Given the description of an element on the screen output the (x, y) to click on. 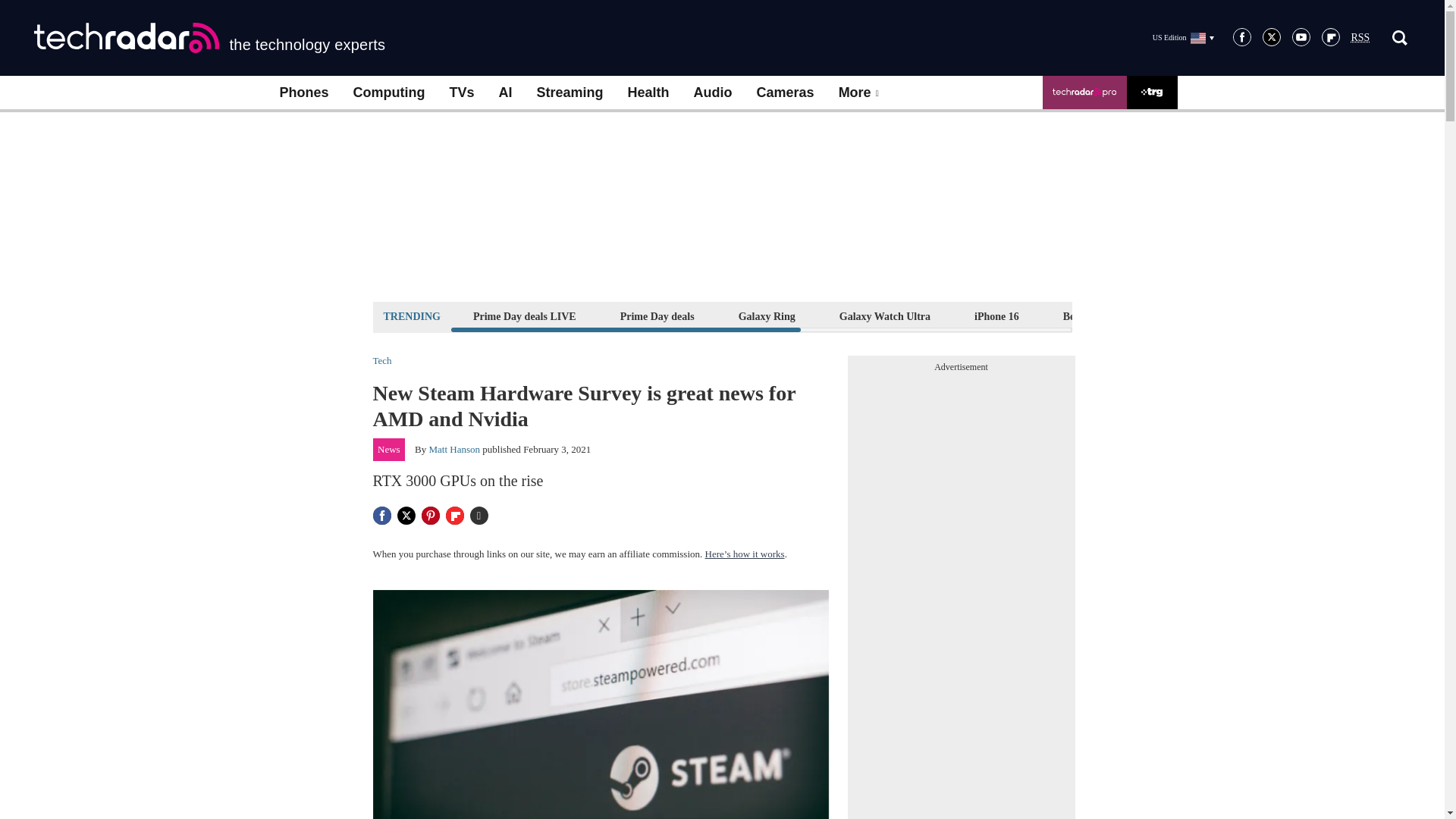
Cameras (785, 92)
Really Simple Syndication (1360, 37)
Health (648, 92)
Computing (389, 92)
AI (505, 92)
TVs (461, 92)
US Edition (1182, 37)
Streaming (569, 92)
RSS (1360, 38)
Audio (712, 92)
Advertisement (721, 206)
Phones (303, 92)
